Given the description of an element on the screen output the (x, y) to click on. 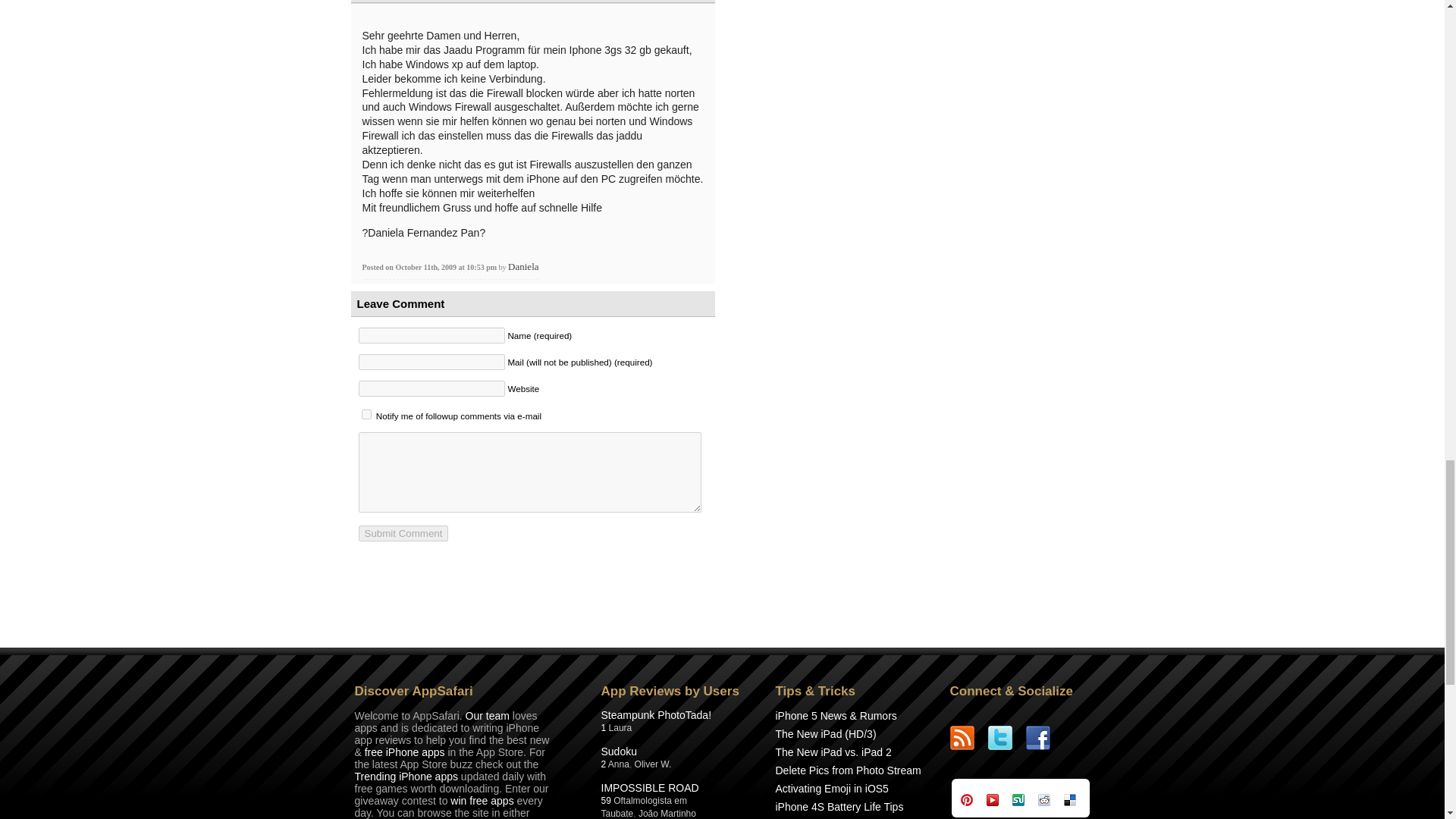
Posted on October 11th, 2009 at 10:53 pm (430, 266)
Submit Comment (403, 533)
Submit Comment (403, 533)
subscribe (366, 414)
